Given the description of an element on the screen output the (x, y) to click on. 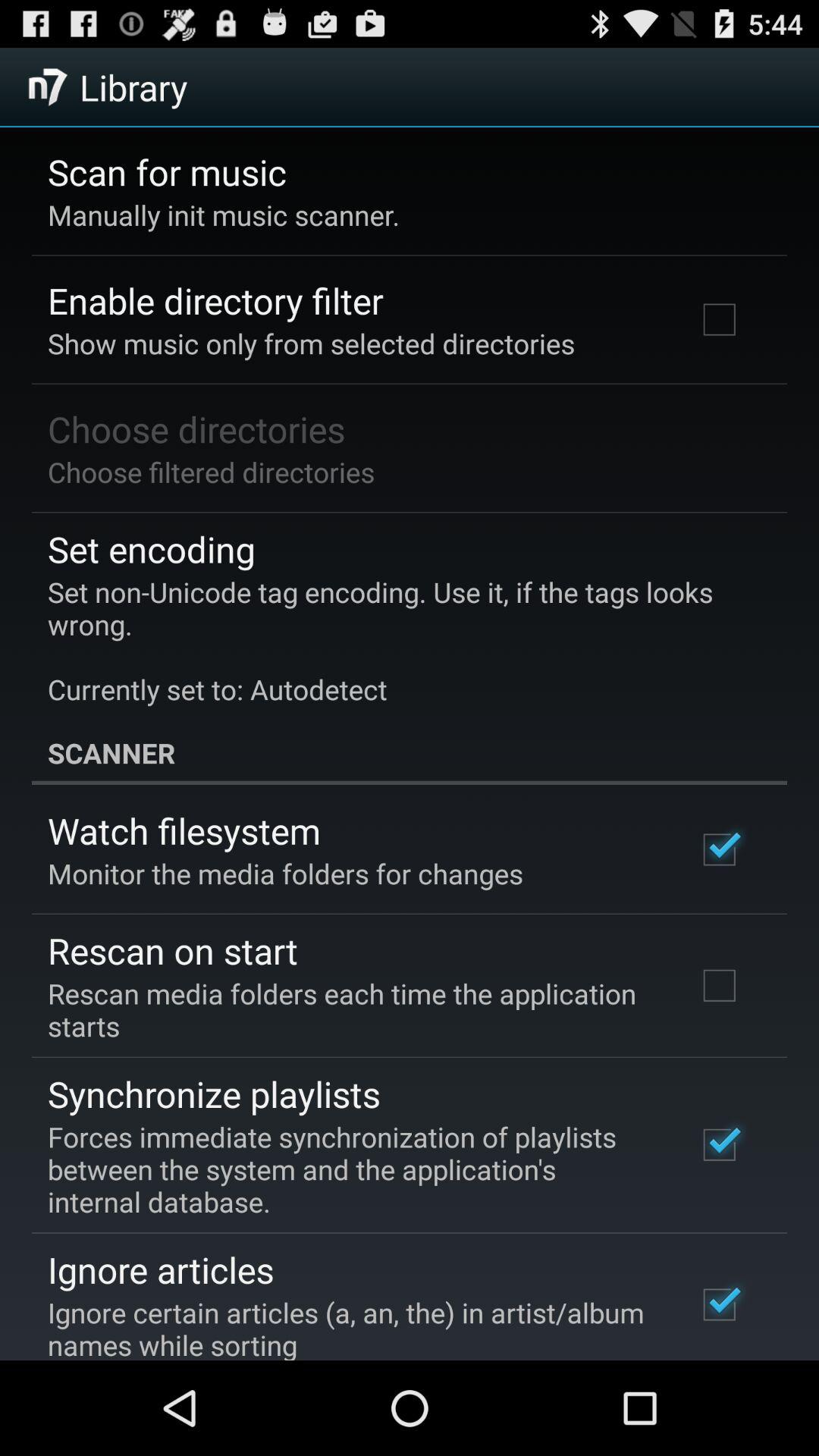
click show music only (311, 343)
